Given the description of an element on the screen output the (x, y) to click on. 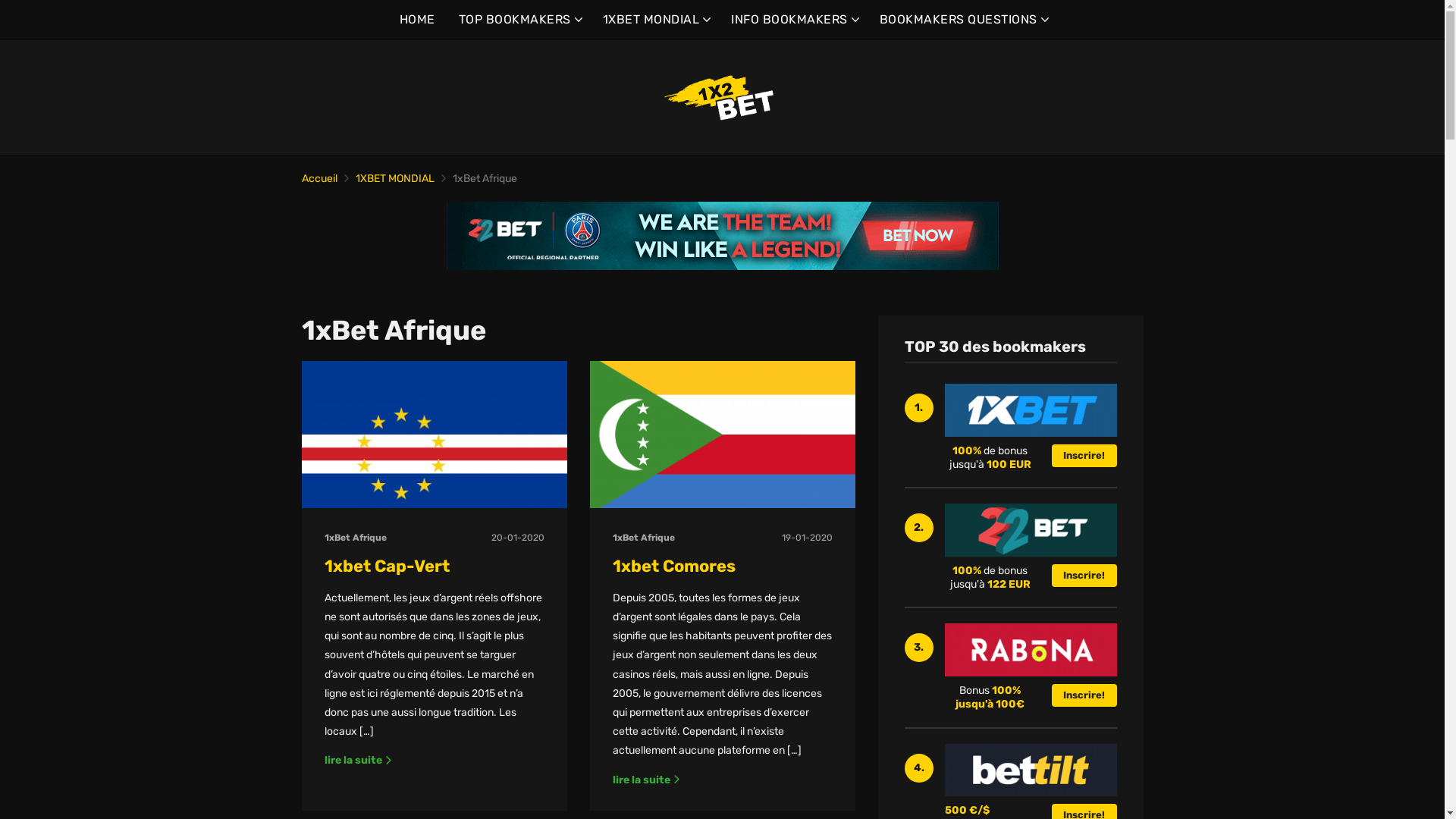
1XBET MONDIAL Element type: text (393, 178)
INFO BOOKMAKERS Element type: text (793, 19)
1XBET MONDIAL Element type: text (654, 19)
HOME Element type: text (416, 19)
Inscrire! Element type: text (1083, 695)
Inscrire! Element type: text (1083, 575)
Accueil Element type: text (319, 178)
lire la suite Element type: text (358, 759)
TOP BOOKMAKERS Element type: text (518, 19)
Inscrire! Element type: text (1083, 455)
1xbet Comores Element type: text (673, 565)
22Bet Element type: hover (721, 235)
lire la suite Element type: text (646, 779)
BOOKMAKERS QUESTIONS Element type: text (962, 19)
1xbet Cap-Vert Element type: text (386, 565)
